Given the description of an element on the screen output the (x, y) to click on. 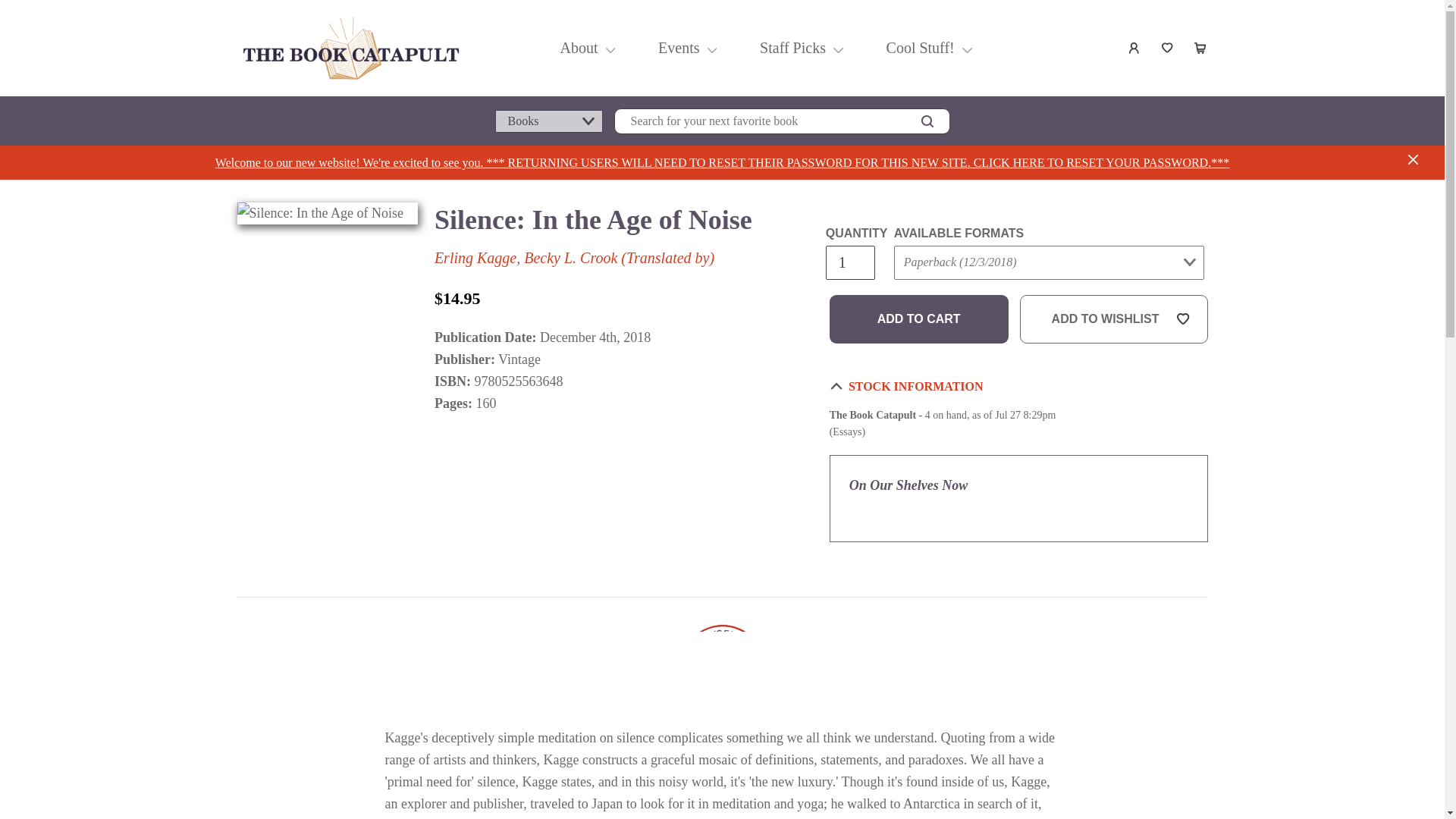
Wishlist (1168, 47)
Cool Stuff! (919, 47)
Wishlists (1168, 47)
Cart (1201, 47)
Log in (1134, 47)
1 (850, 262)
SEARCH (926, 121)
STAFF PICKS SUB-NAVIGATION (837, 47)
Log in (1134, 47)
Add to cart (919, 318)
COOL STUFF! SUB-NAVIGATION (967, 47)
Cart (1201, 47)
ABOUT SUB-NAVIGATION (610, 47)
Staff Picks (792, 47)
